Given the description of an element on the screen output the (x, y) to click on. 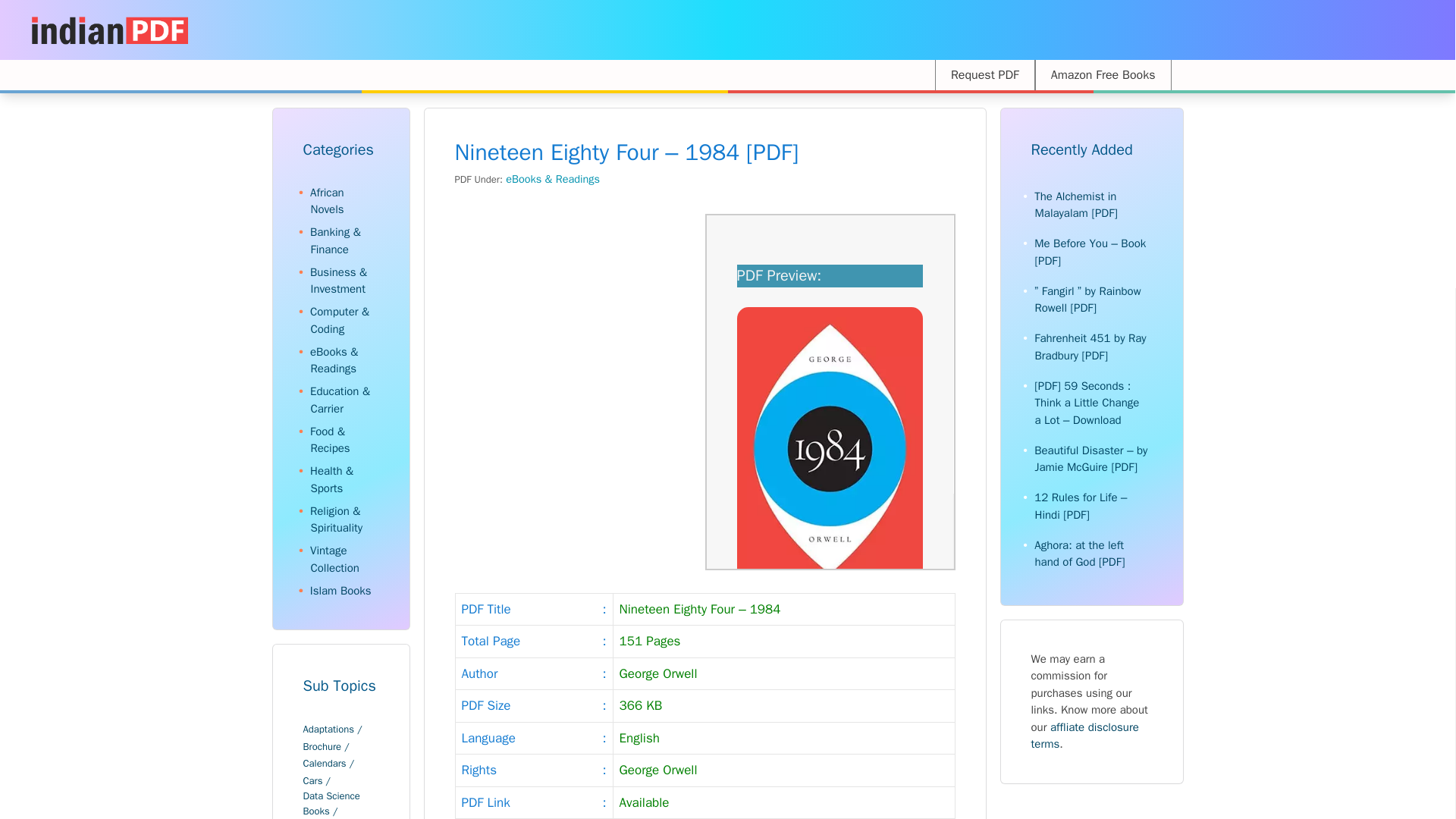
PDF Name (704, 609)
Adaptations (332, 729)
African Novels (326, 201)
Brochure (325, 746)
Available Language (704, 738)
Category:  (326, 201)
Written By (704, 674)
Pages in PDF (704, 641)
Islam Books (340, 590)
Request PDF (984, 74)
